Given the description of an element on the screen output the (x, y) to click on. 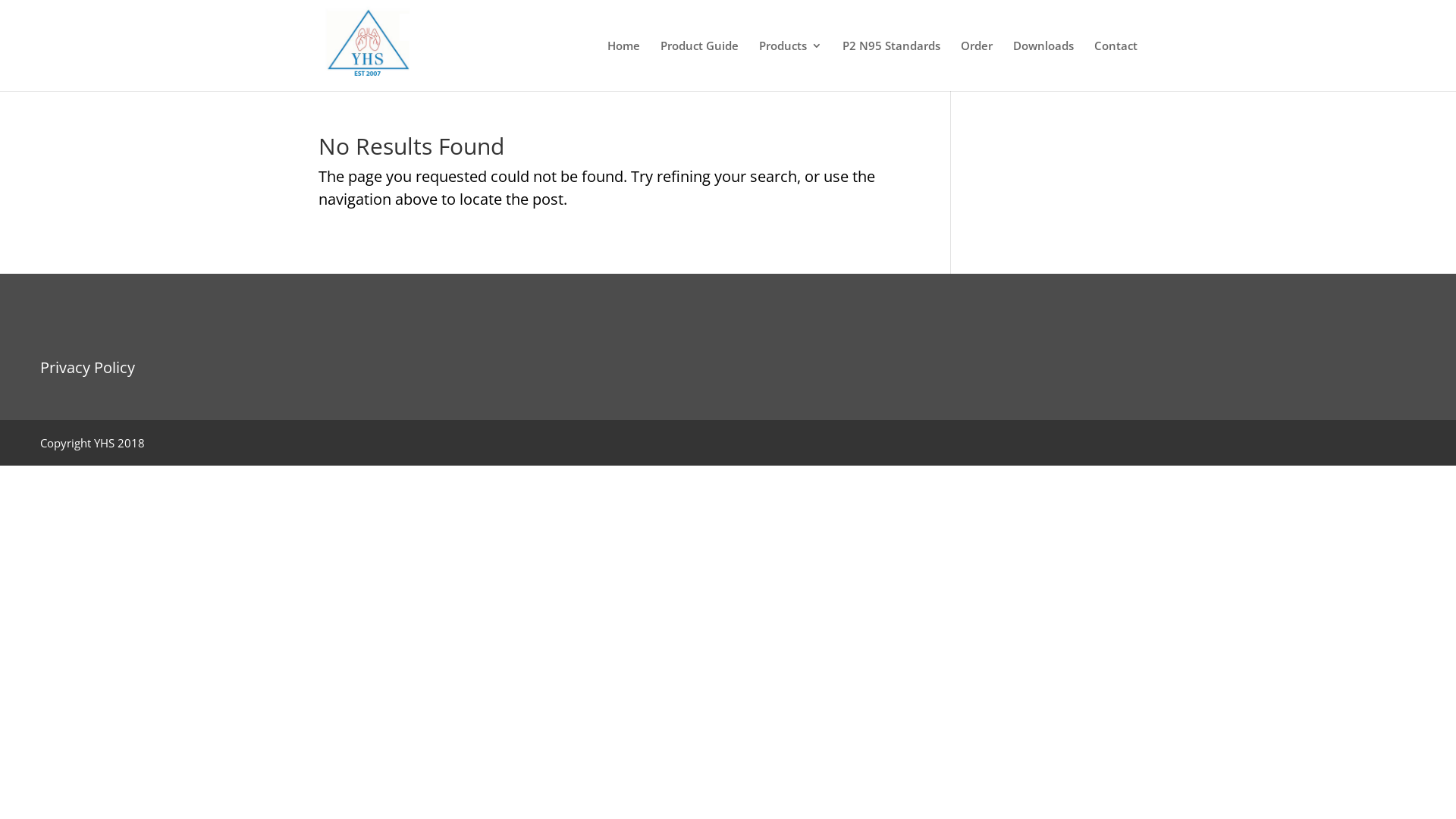
Privacy Policy Element type: text (87, 367)
Product Guide Element type: text (699, 65)
Downloads Element type: text (1043, 65)
Products Element type: text (790, 65)
P2 N95 Standards Element type: text (891, 65)
Home Element type: text (623, 65)
Order Element type: text (976, 65)
Contact Element type: text (1115, 65)
